Given the description of an element on the screen output the (x, y) to click on. 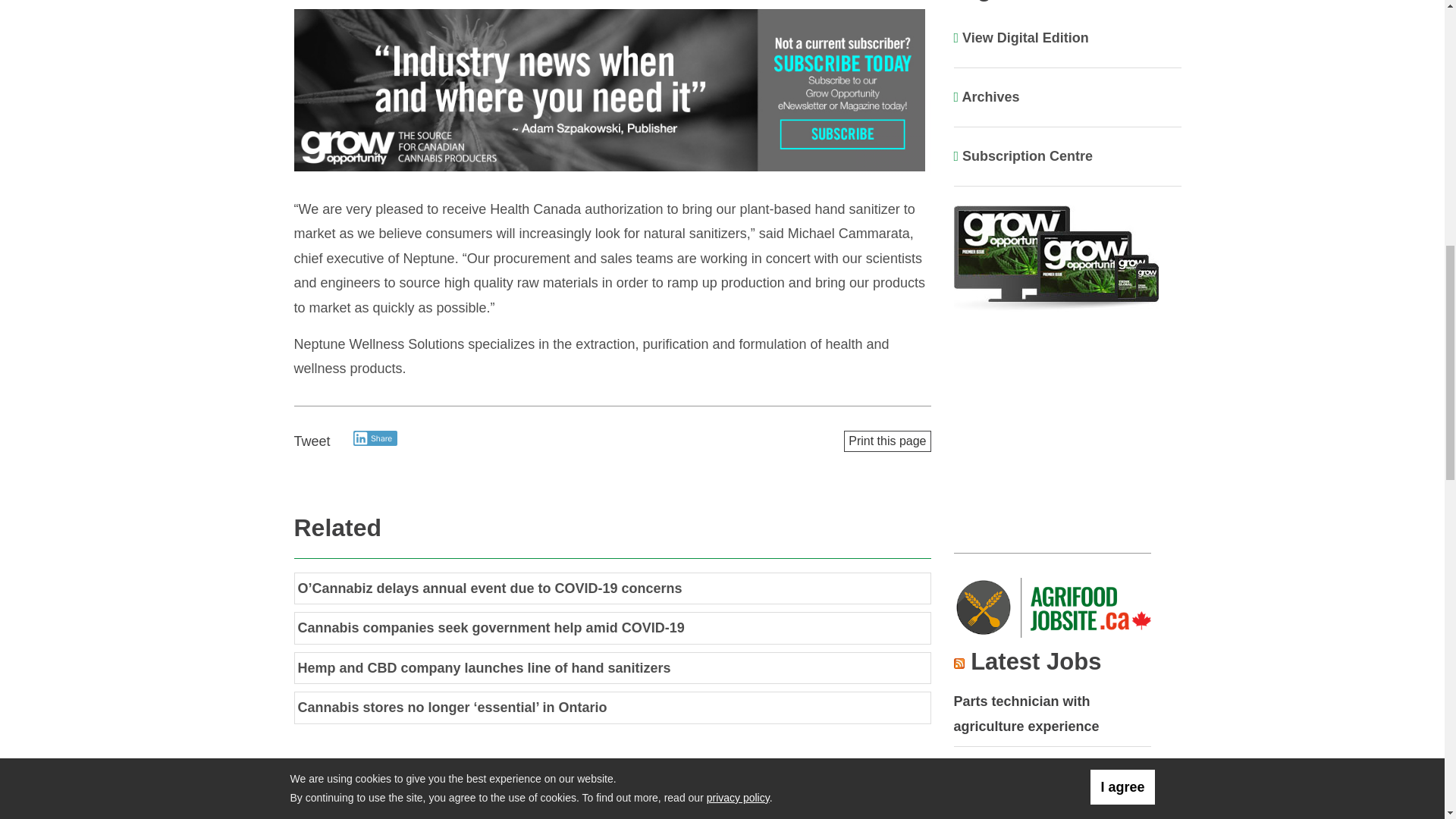
3rd party ad content (1055, 433)
3rd party ad content (612, 91)
